Given the description of an element on the screen output the (x, y) to click on. 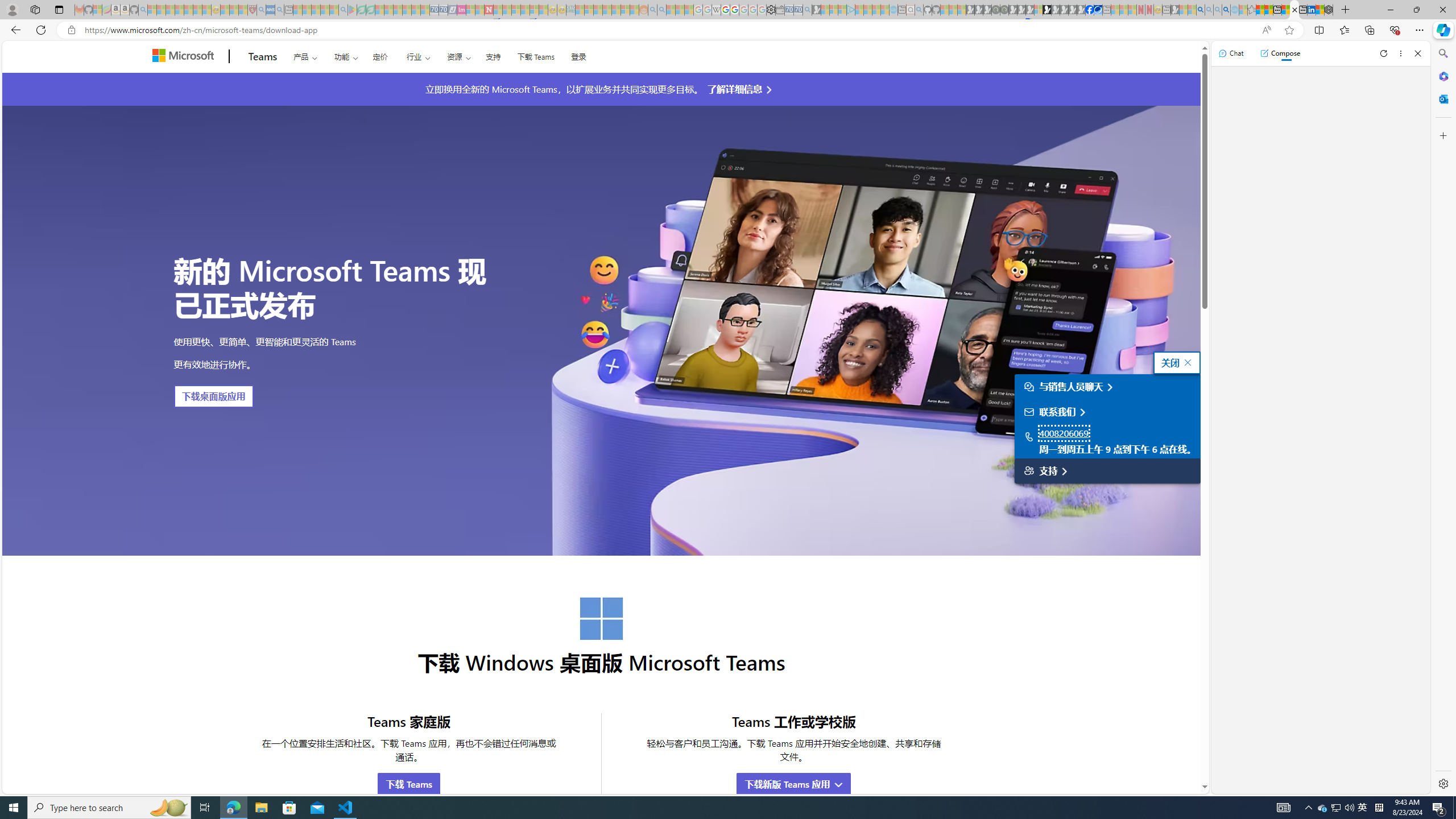
MSNBC - MSN - Sleeping (579, 9)
Bing Real Estate - Home sales and rental listings - Sleeping (806, 9)
Target page - Wikipedia - Sleeping (716, 9)
AQI & Health | AirNow.gov (1098, 9)
Local - MSN - Sleeping (242, 9)
